Given the description of an element on the screen output the (x, y) to click on. 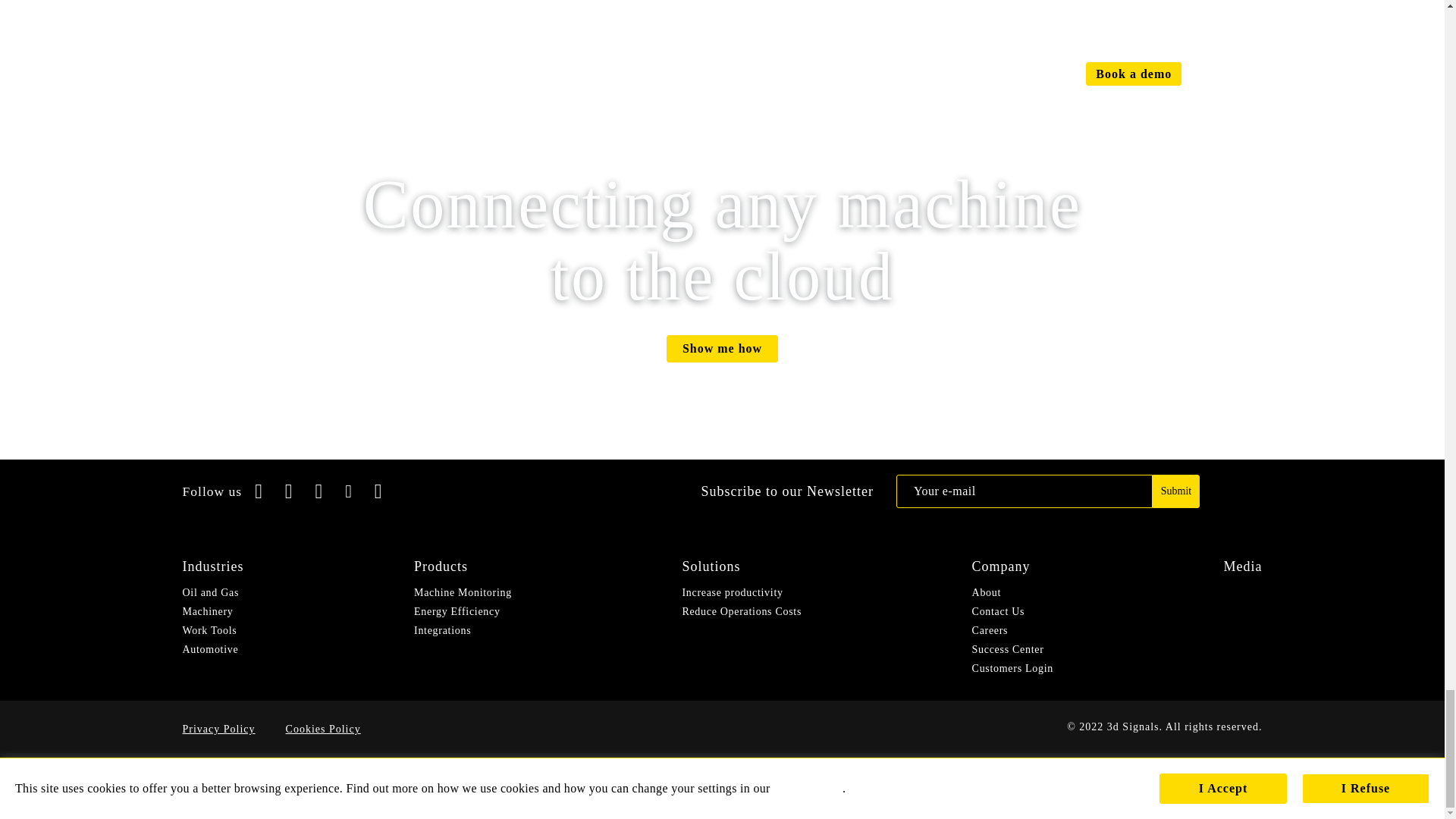
Submit (1176, 491)
